Given the description of an element on the screen output the (x, y) to click on. 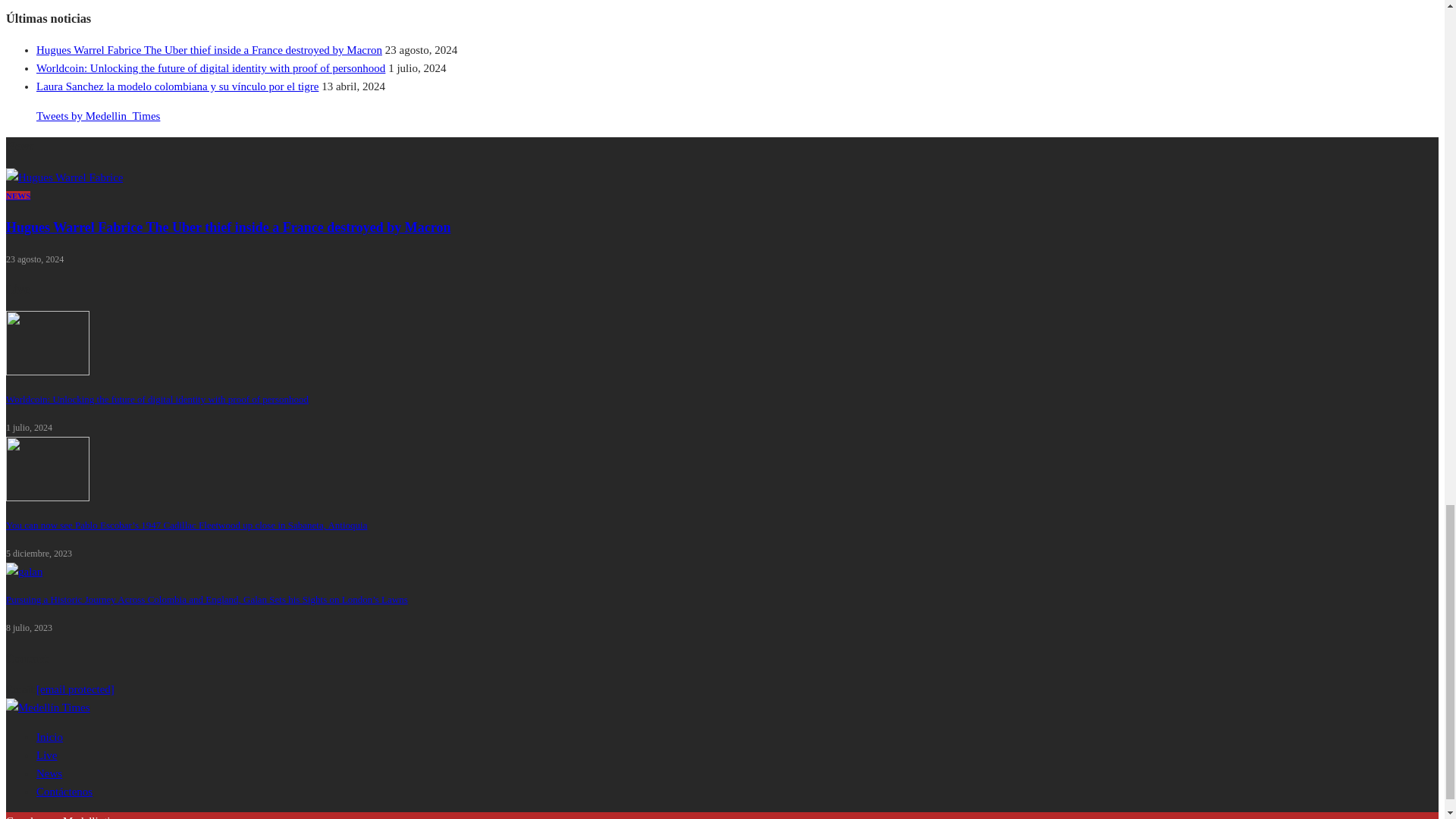
News (17, 194)
NEWS (17, 194)
